Given the description of an element on the screen output the (x, y) to click on. 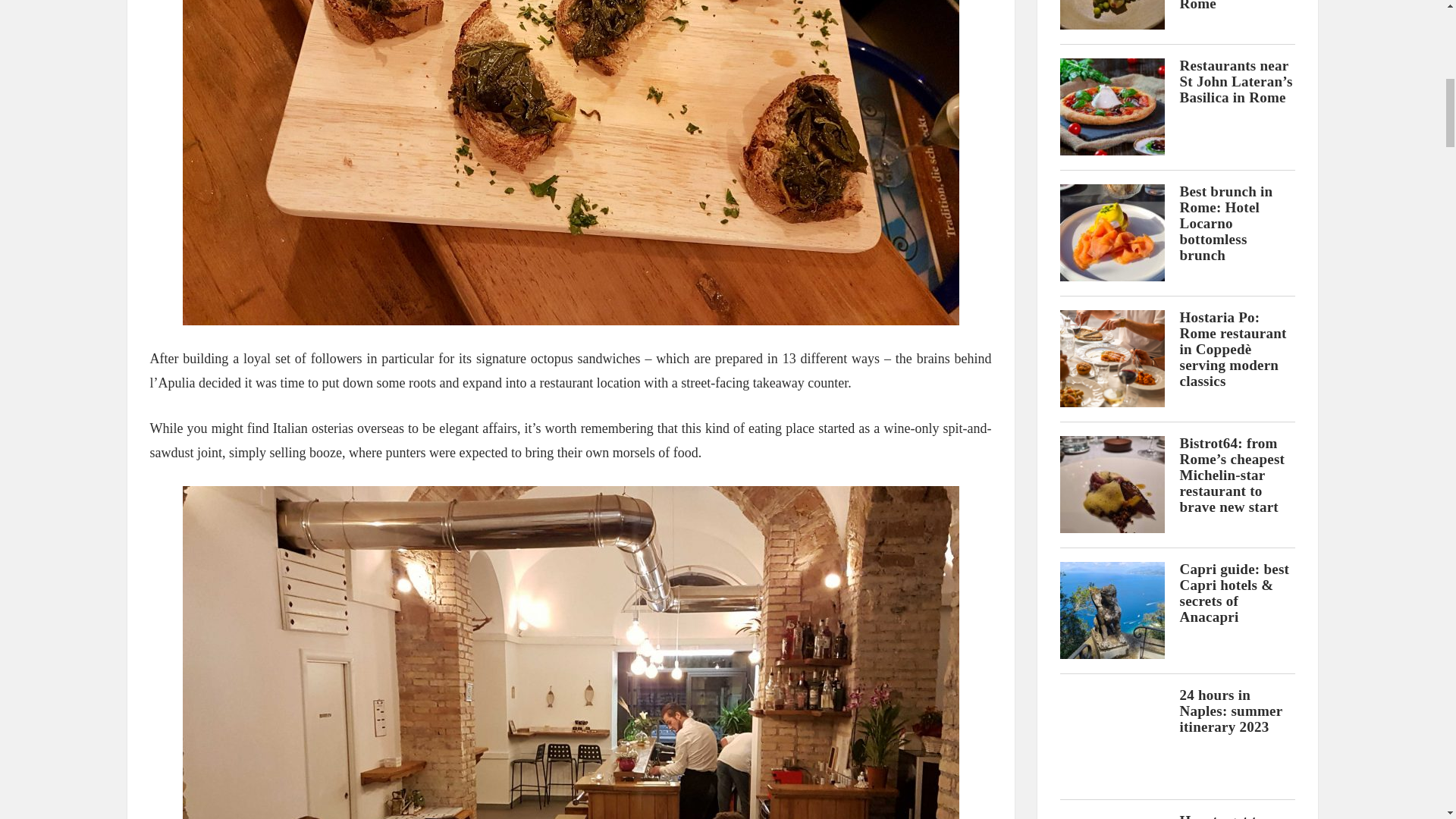
Best brunch in Rome: Hotel Locarno bottomless brunch (1111, 231)
Orma Roma, the newest Michelin-starred restaurant in Rome (1233, 5)
Best brunch in Rome: Hotel Locarno bottomless brunch (1225, 222)
